Given the description of an element on the screen output the (x, y) to click on. 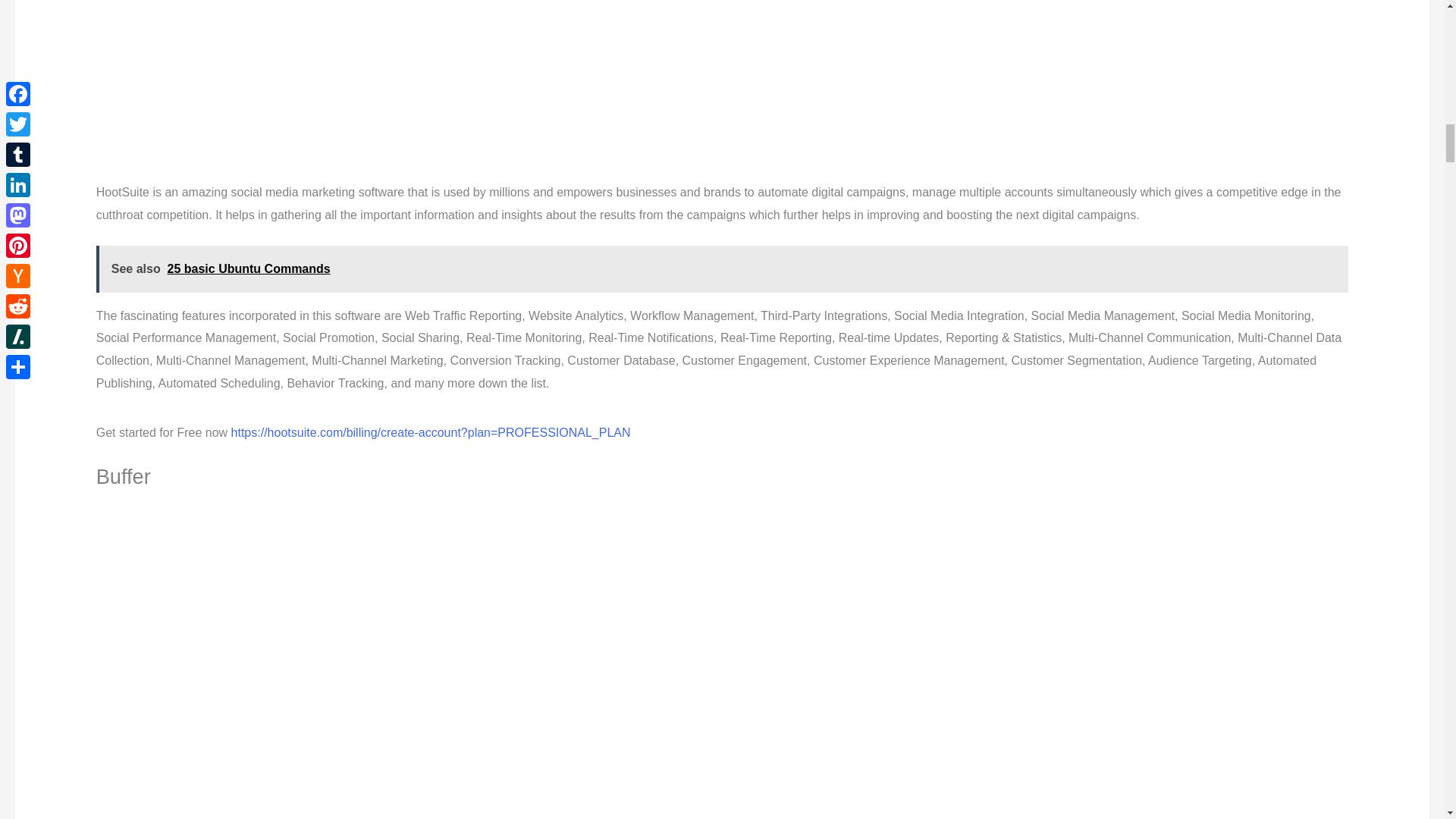
See also  25 basic Ubuntu Commands (722, 268)
